Given the description of an element on the screen output the (x, y) to click on. 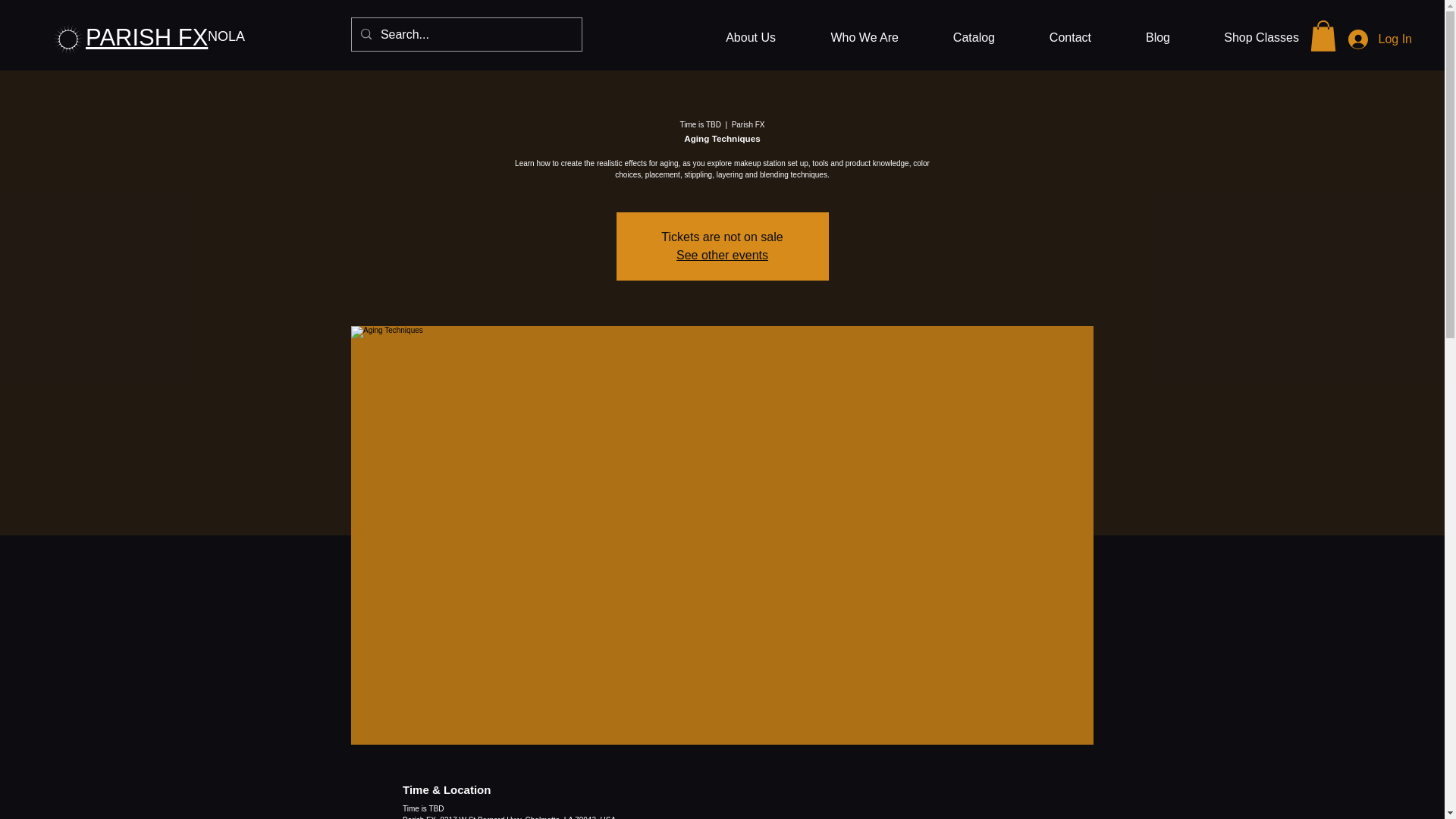
Shop Classes (1245, 37)
See other events (722, 254)
Who We Are (848, 37)
Contact (1054, 37)
Blog (1141, 37)
PARISH FX (146, 37)
Log In (1380, 39)
Catalog (958, 37)
About Us (734, 37)
